Given the description of an element on the screen output the (x, y) to click on. 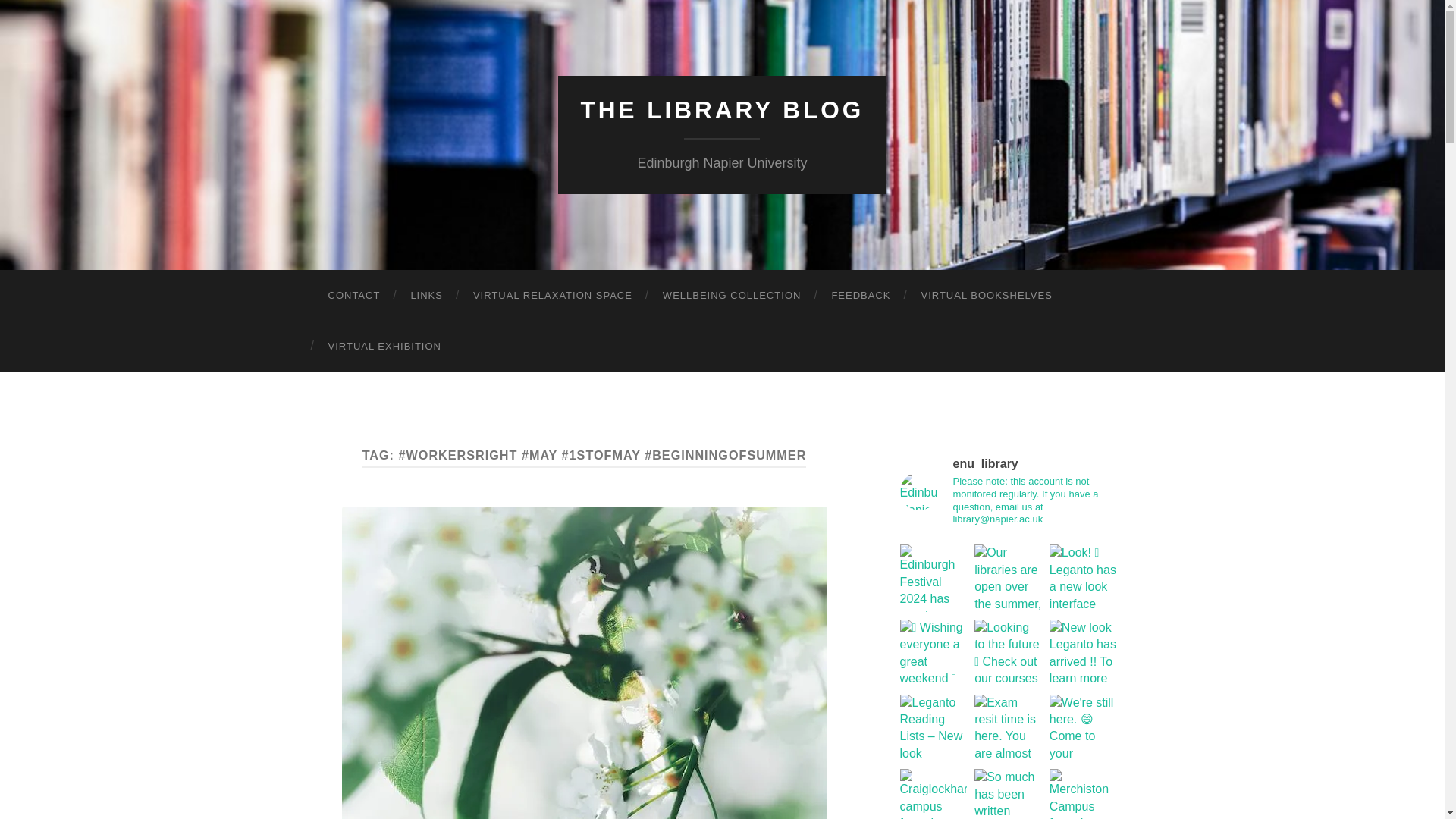
FEEDBACK (860, 295)
VIRTUAL BOOKSHELVES (986, 295)
CONTACT (353, 295)
LINKS (426, 295)
WELLBEING COLLECTION (731, 295)
THE LIBRARY BLOG (722, 109)
VIRTUAL EXHIBITION (384, 346)
VIRTUAL RELAXATION SPACE (552, 295)
